Given the description of an element on the screen output the (x, y) to click on. 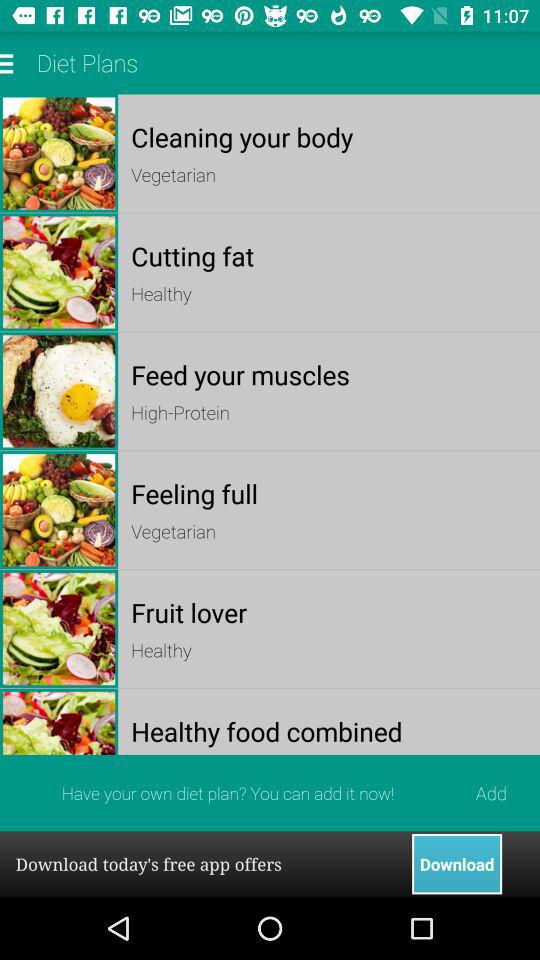
choose item above the add (328, 730)
